Given the description of an element on the screen output the (x, y) to click on. 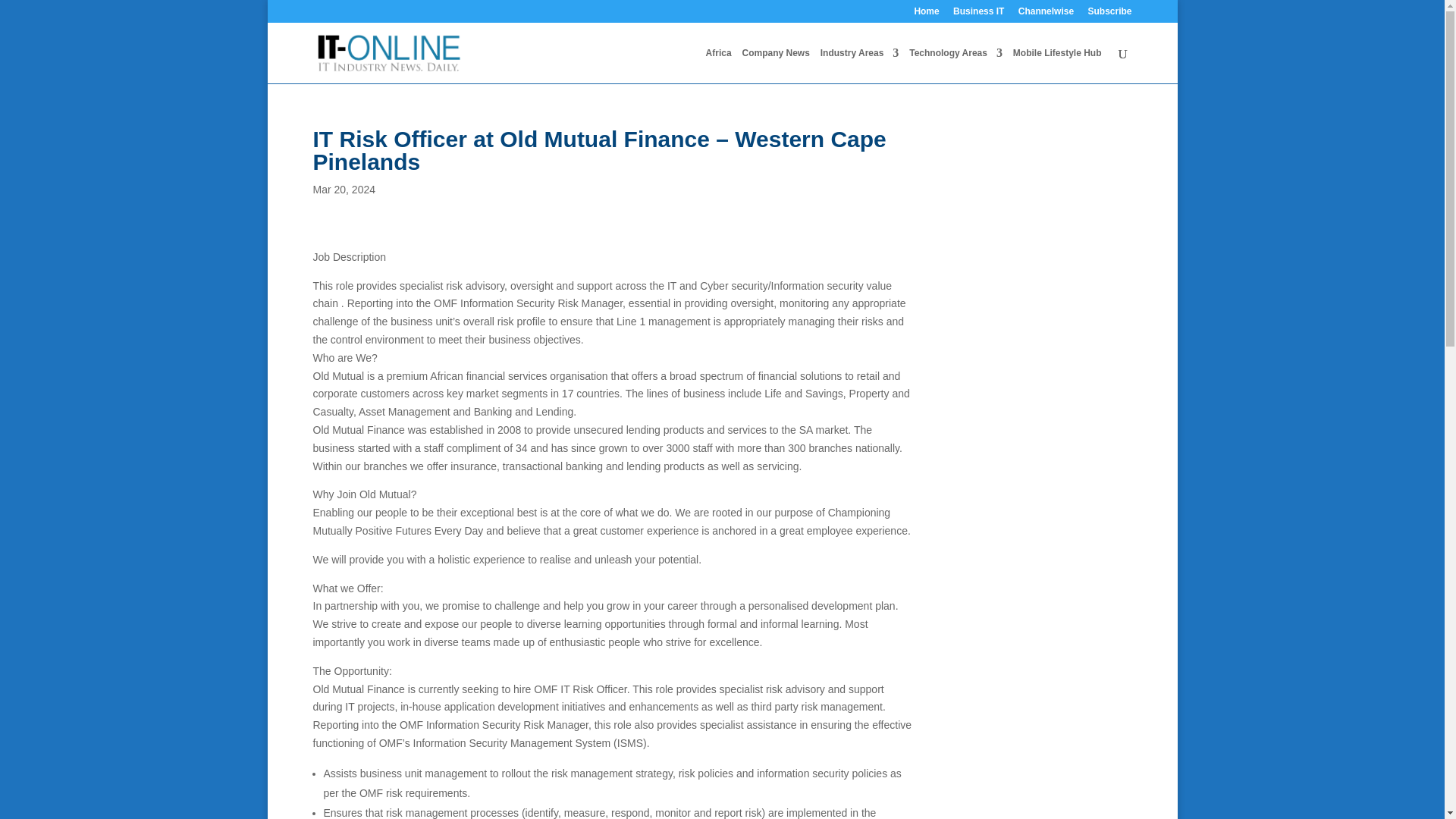
Subscribe (1109, 14)
Industry Areas (860, 65)
Company News (775, 65)
Business IT (978, 14)
Africa (719, 65)
Home (926, 14)
Channelwise (1045, 14)
Technology Areas (955, 65)
